Given the description of an element on the screen output the (x, y) to click on. 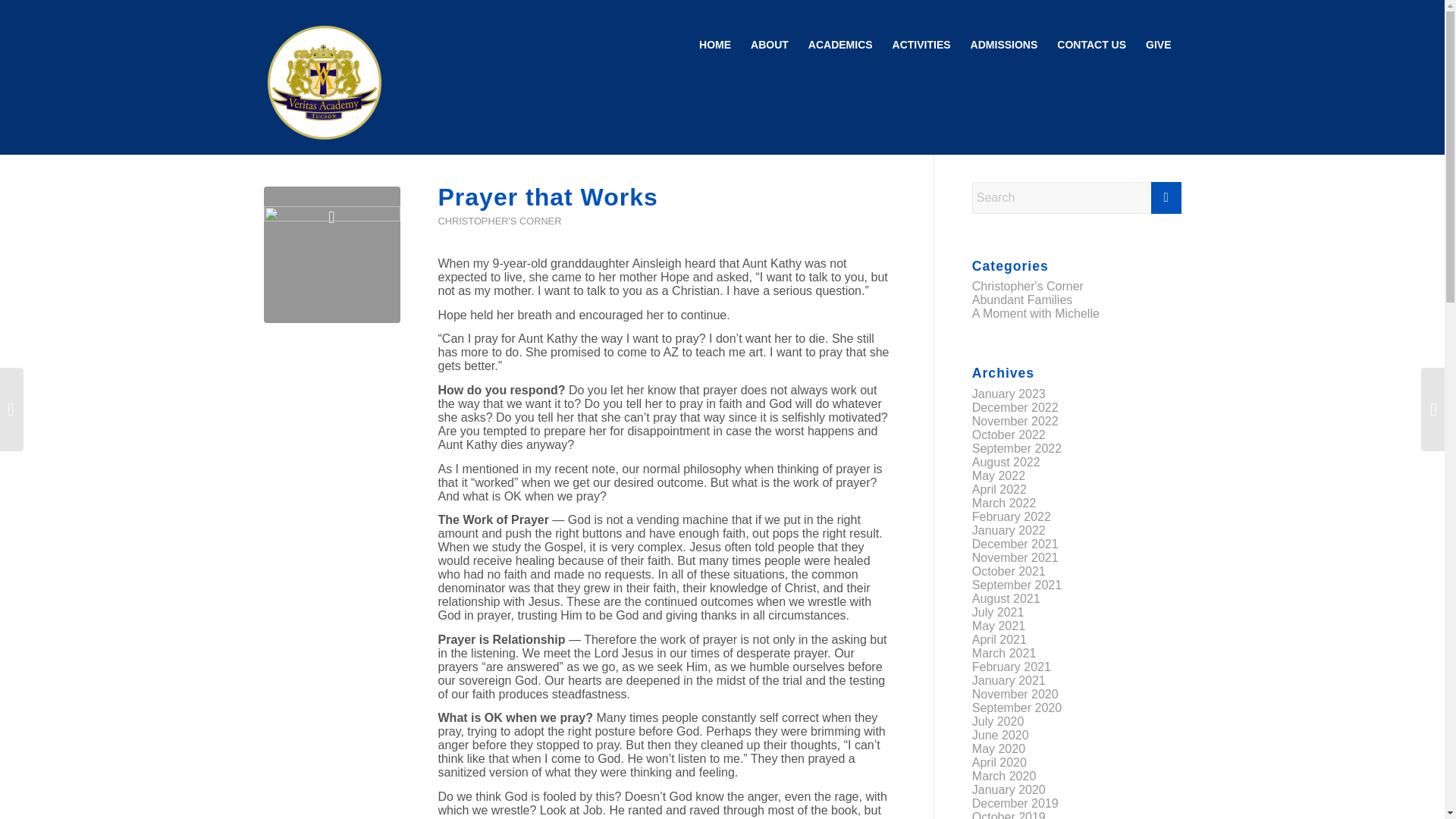
Logo-transparent header (324, 82)
GIVE (1157, 44)
ADMISSIONS (1004, 44)
ACADEMICS (839, 44)
ACTIVITIES (921, 44)
HOME (714, 44)
christophers-corner (331, 254)
CHRISTOPHER'S CORNER (500, 220)
ABOUT (769, 44)
CONTACT US (1090, 44)
